Given the description of an element on the screen output the (x, y) to click on. 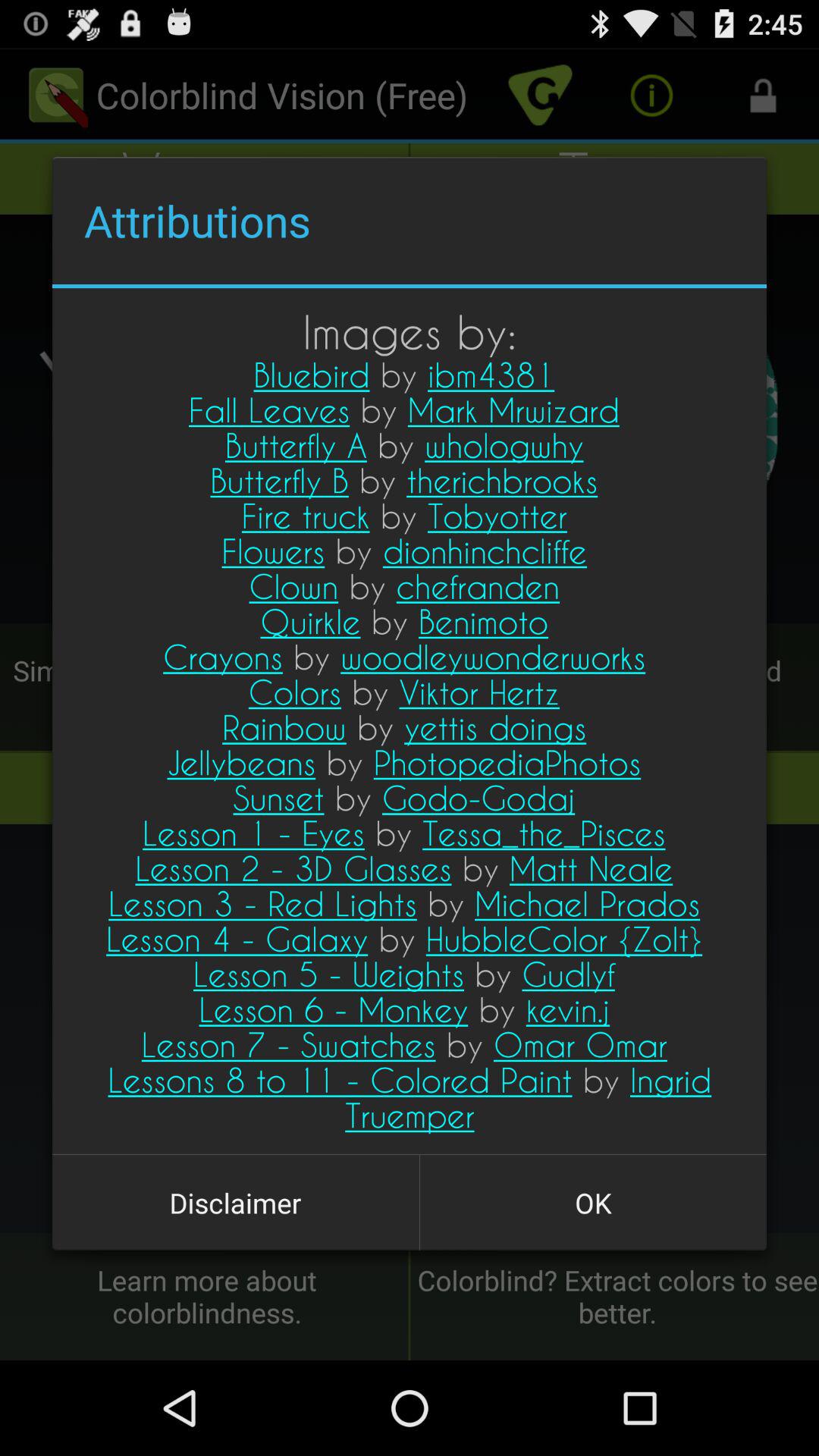
flip to disclaimer item (235, 1202)
